Given the description of an element on the screen output the (x, y) to click on. 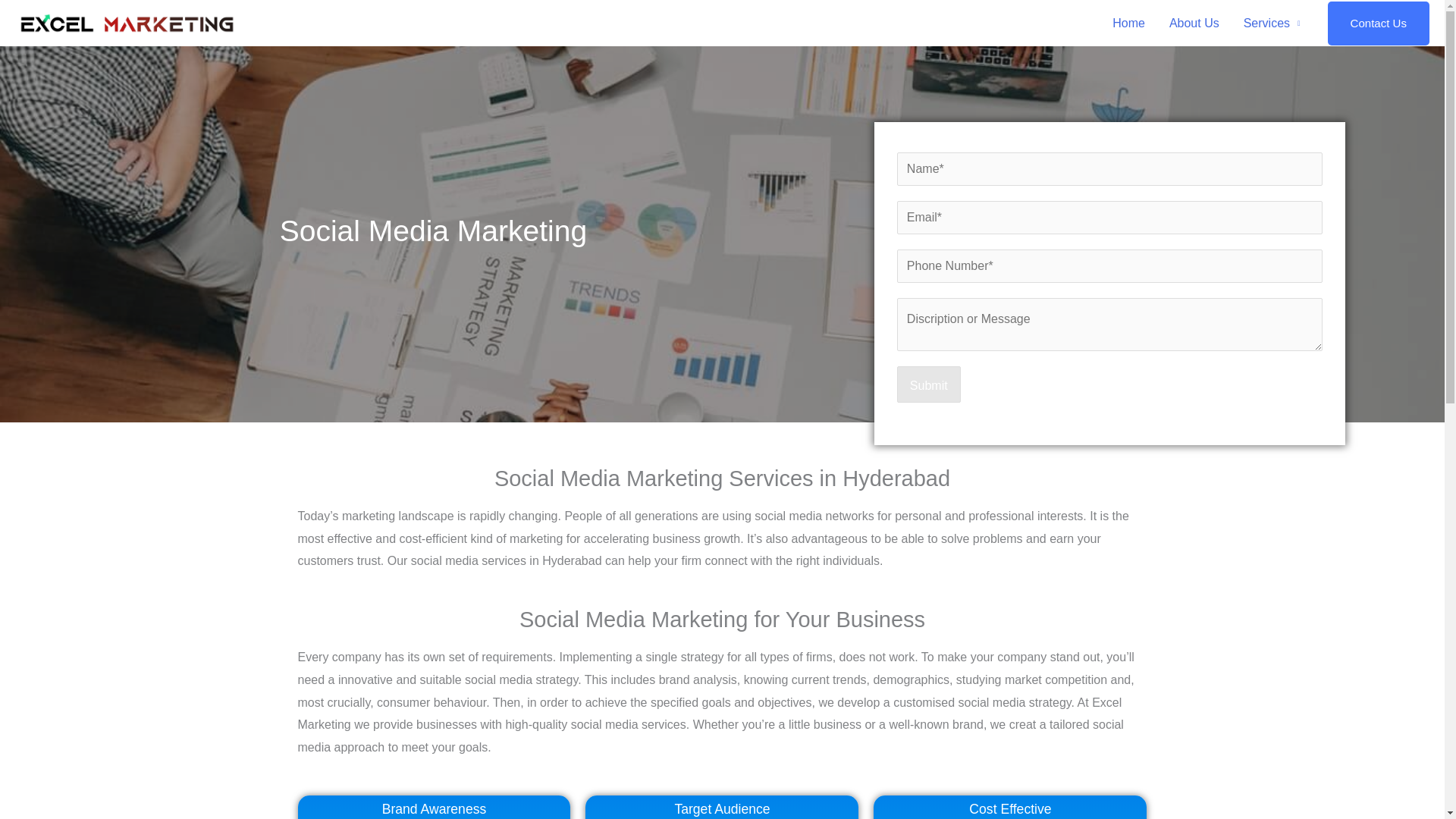
Submit (928, 384)
About Us (1194, 22)
Services (1272, 22)
Contact Us (1378, 23)
Home (1128, 22)
